Given the description of an element on the screen output the (x, y) to click on. 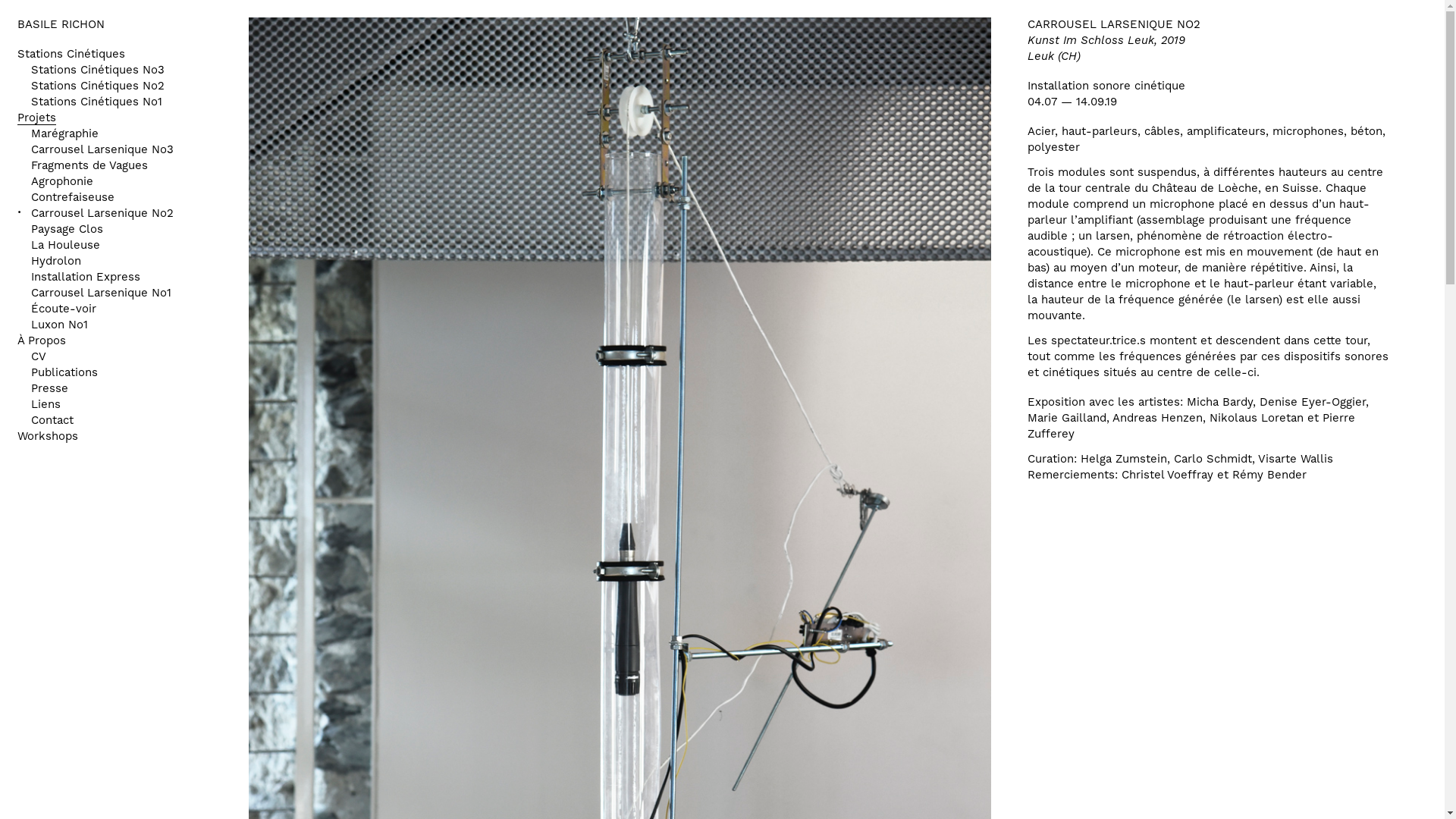
Fragments de Vagues Element type: text (88, 165)
CV Element type: text (37, 356)
Liens Element type: text (44, 405)
Paysage Clos Element type: text (66, 229)
Contrefaiseuse Element type: text (71, 197)
Agrophonie Element type: text (61, 182)
Carrousel Larsenique No2 Element type: text (101, 214)
Workshops Element type: text (46, 436)
Projets Element type: text (35, 118)
Hydrolon Element type: text (55, 261)
Contact Element type: text (51, 420)
La Houleuse Element type: text (64, 246)
BASILE RICHON Element type: text (59, 25)
Publications Element type: text (63, 373)
Installation Express Element type: text (84, 277)
Luxon No1 Element type: text (58, 324)
Presse Element type: text (48, 388)
Carrousel Larsenique No3 Element type: text (101, 150)
Carrousel Larsenique No1 Element type: text (100, 293)
